Given the description of an element on the screen output the (x, y) to click on. 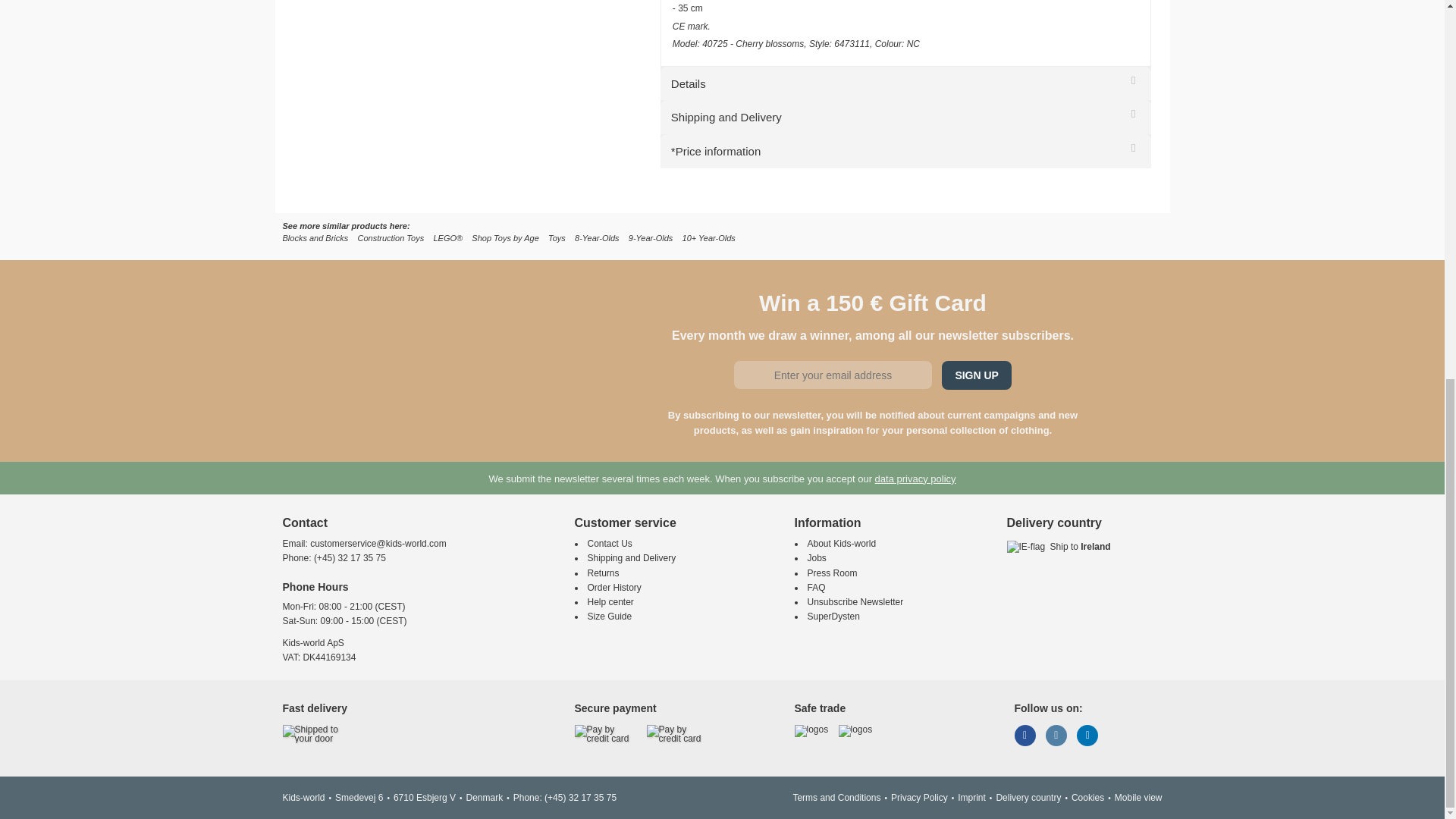
Facebook (1024, 735)
LinkedIn (1087, 735)
Instagram (1056, 735)
CO2 Neutral Website (855, 730)
